Given the description of an element on the screen output the (x, y) to click on. 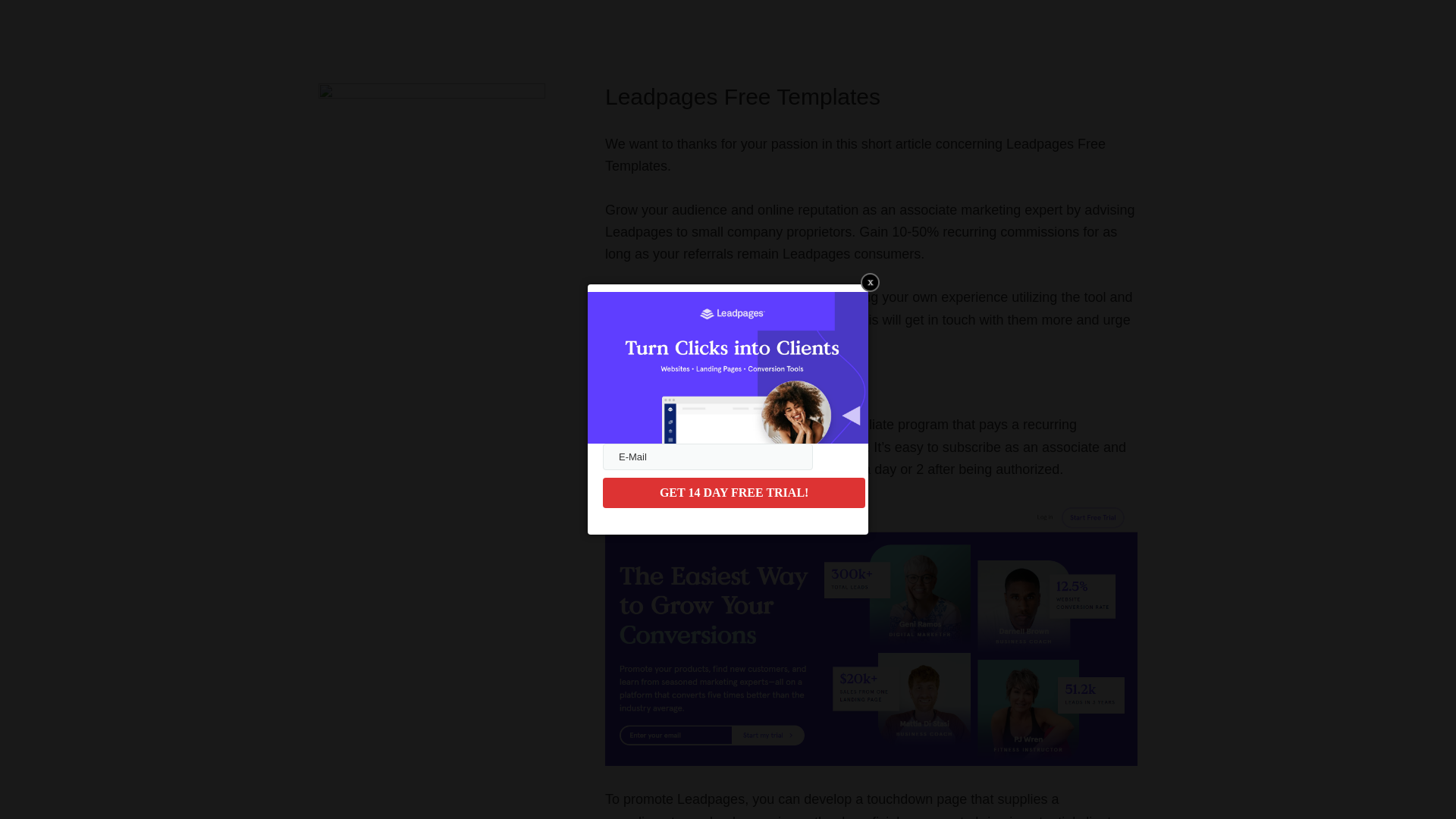
GET 14 DAY FREE TRIAL! (733, 492)
GET 14 DAY FREE TRIAL! (733, 492)
